Given the description of an element on the screen output the (x, y) to click on. 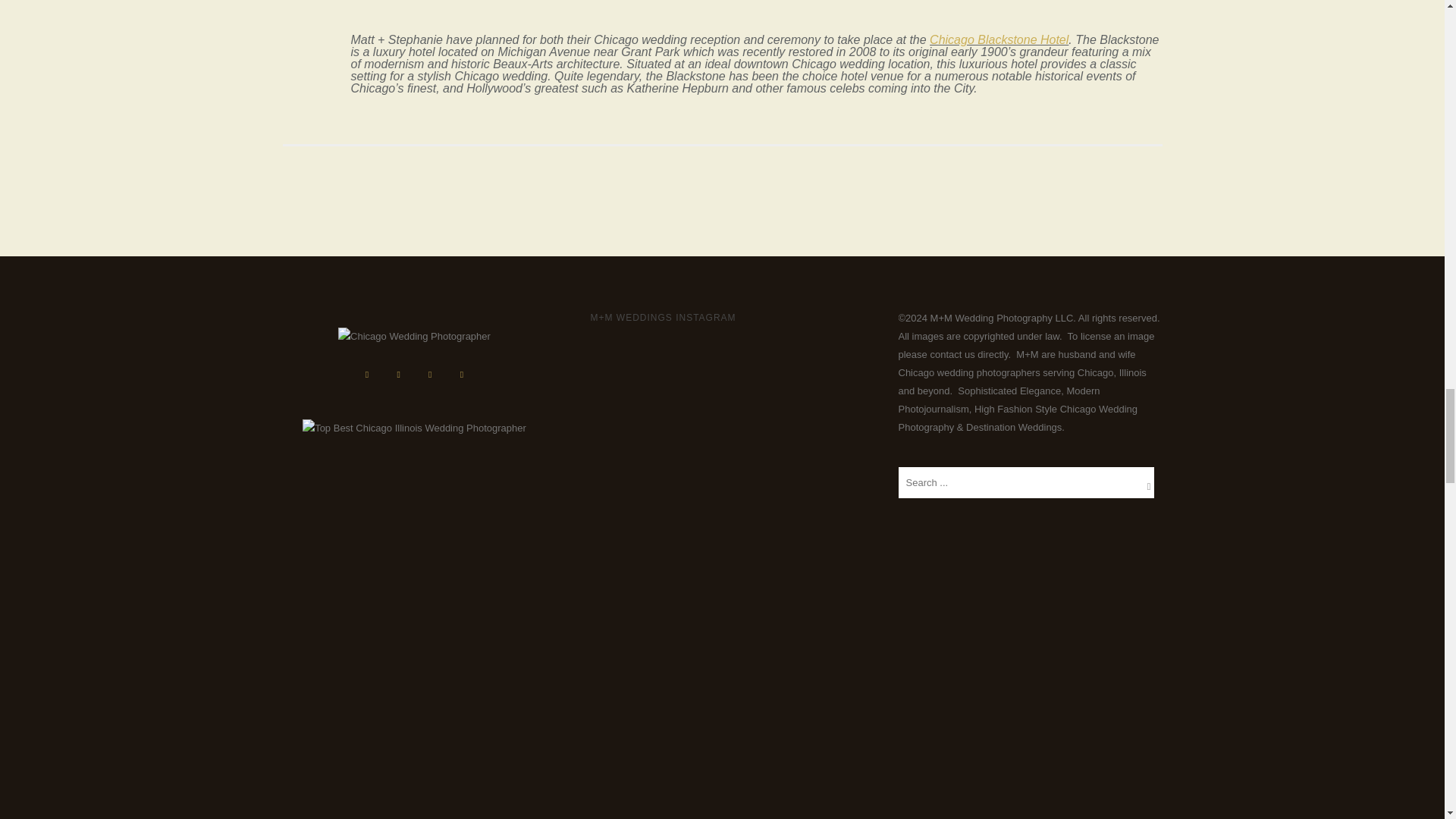
Chicago Blackstone Hotel (999, 39)
